Given the description of an element on the screen output the (x, y) to click on. 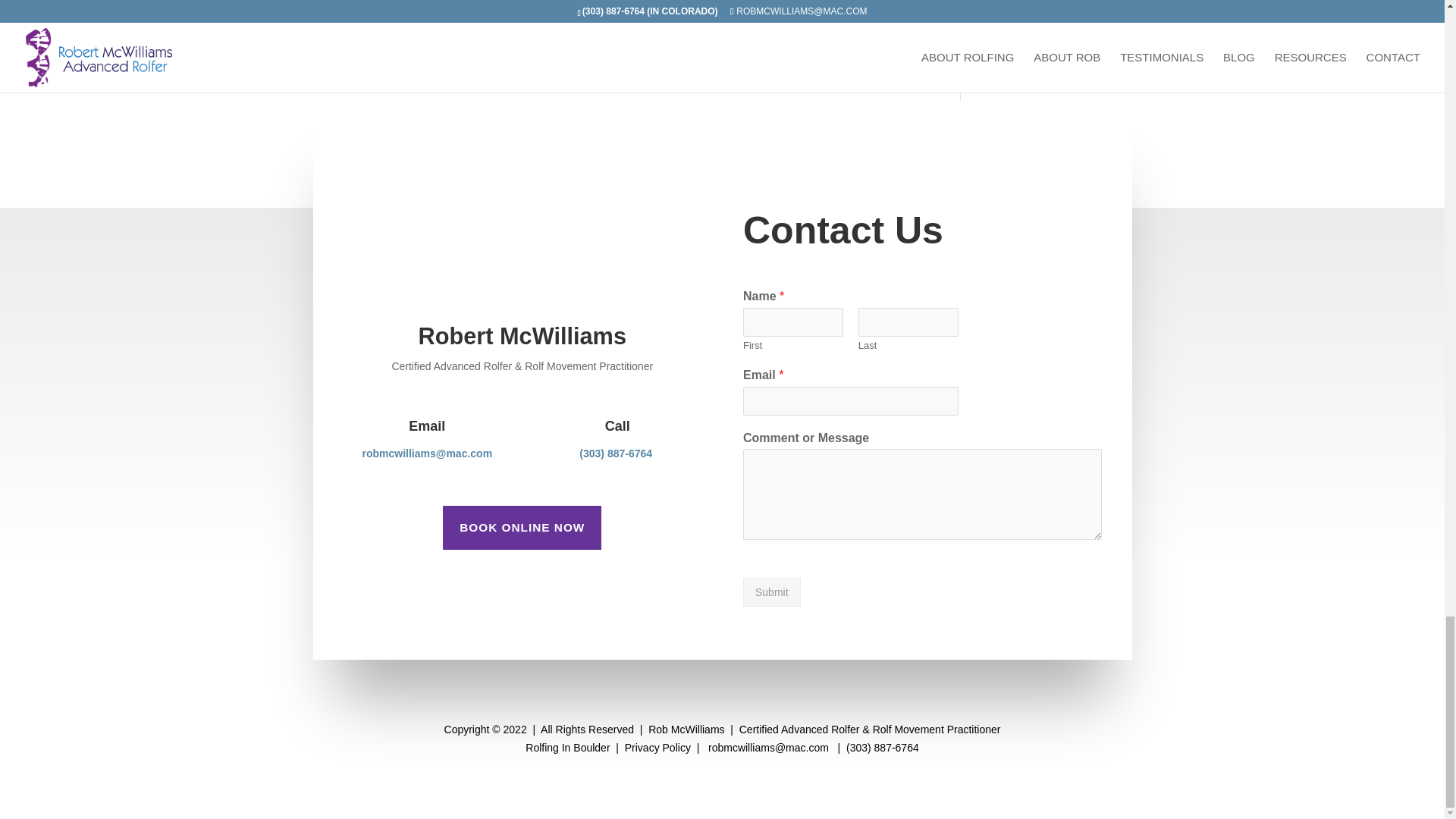
Submit Comment (840, 57)
BOOK ONLINE NOW (521, 527)
Privacy Policy (657, 747)
Submit Comment (840, 57)
Submit (771, 592)
yes (319, 17)
